Given the description of an element on the screen output the (x, y) to click on. 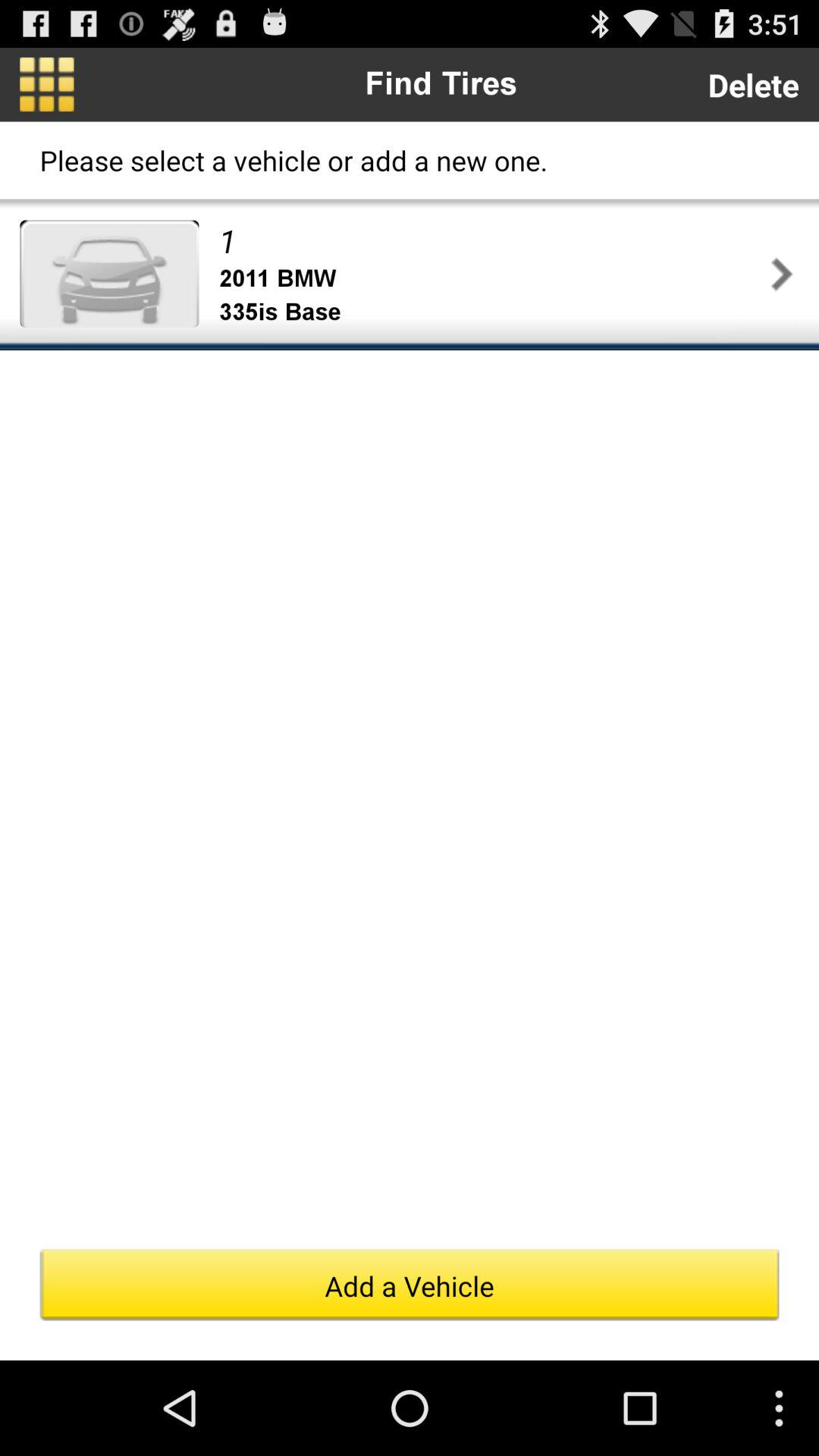
press the item below the please select a icon (109, 273)
